Given the description of an element on the screen output the (x, y) to click on. 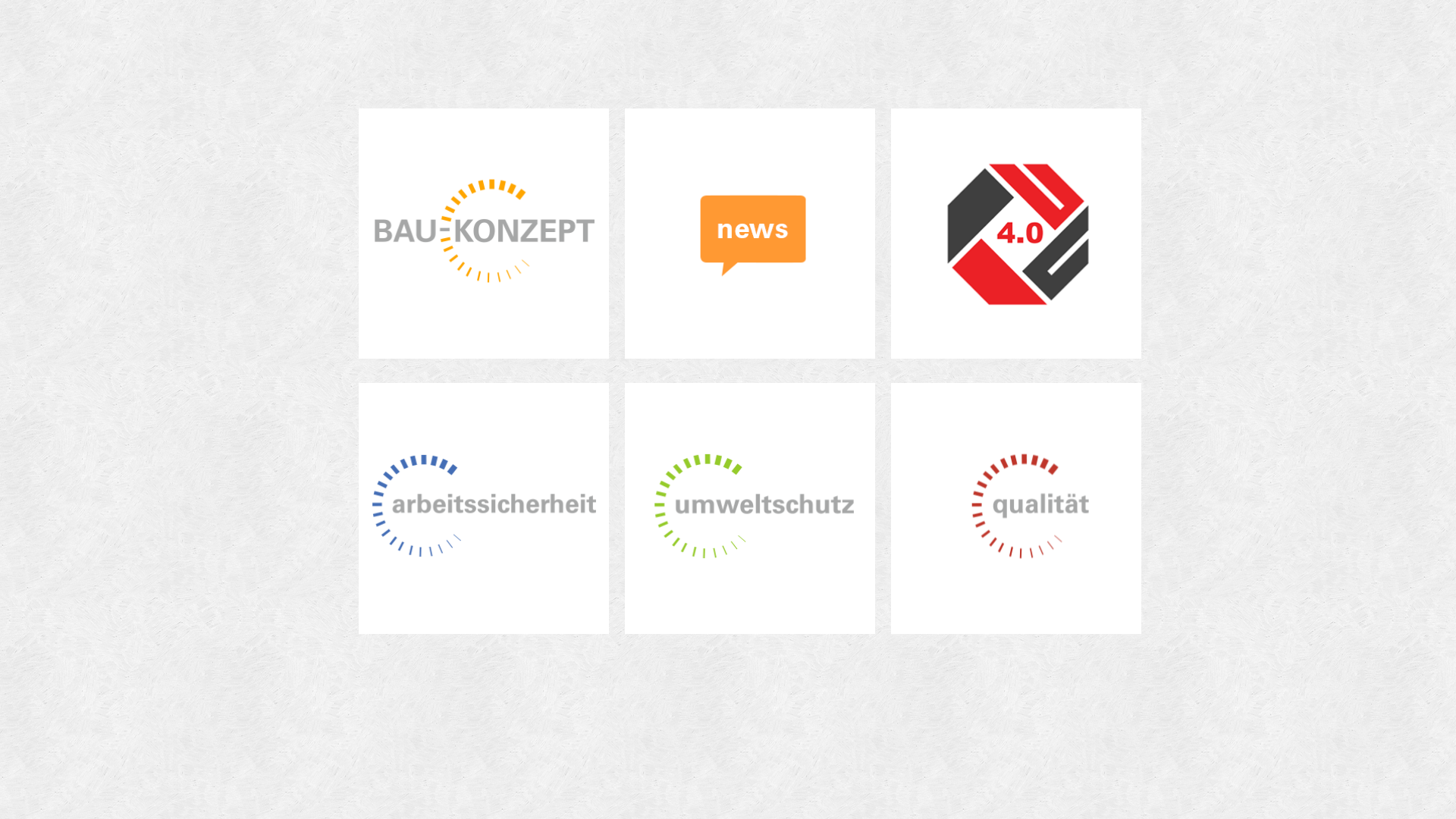
Zur swiss STRATEGIE Seite Element type: hover (1016, 232)
